Given the description of an element on the screen output the (x, y) to click on. 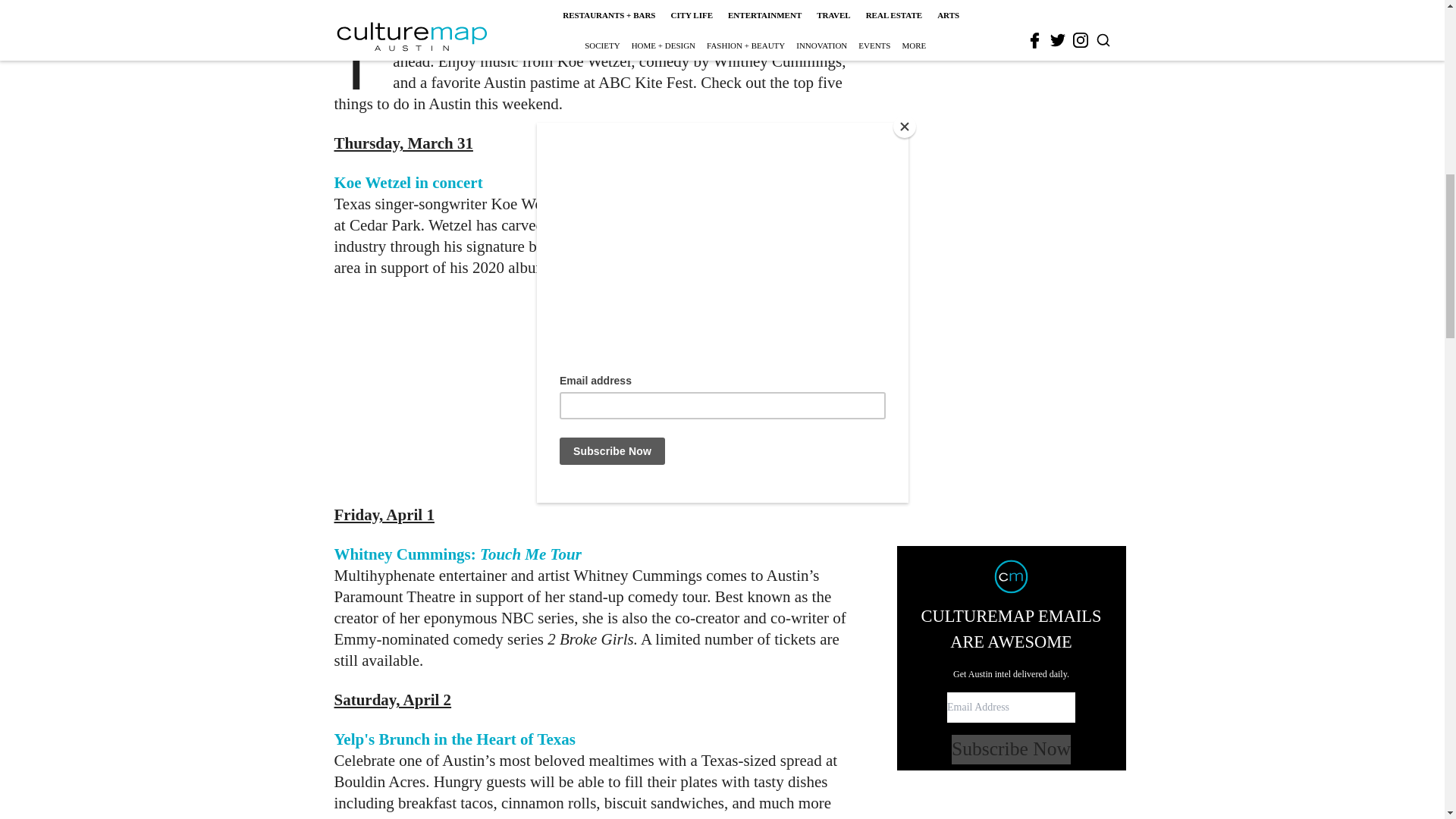
3rd party ad content (600, 391)
Subscribe Now (1011, 206)
